Given the description of an element on the screen output the (x, y) to click on. 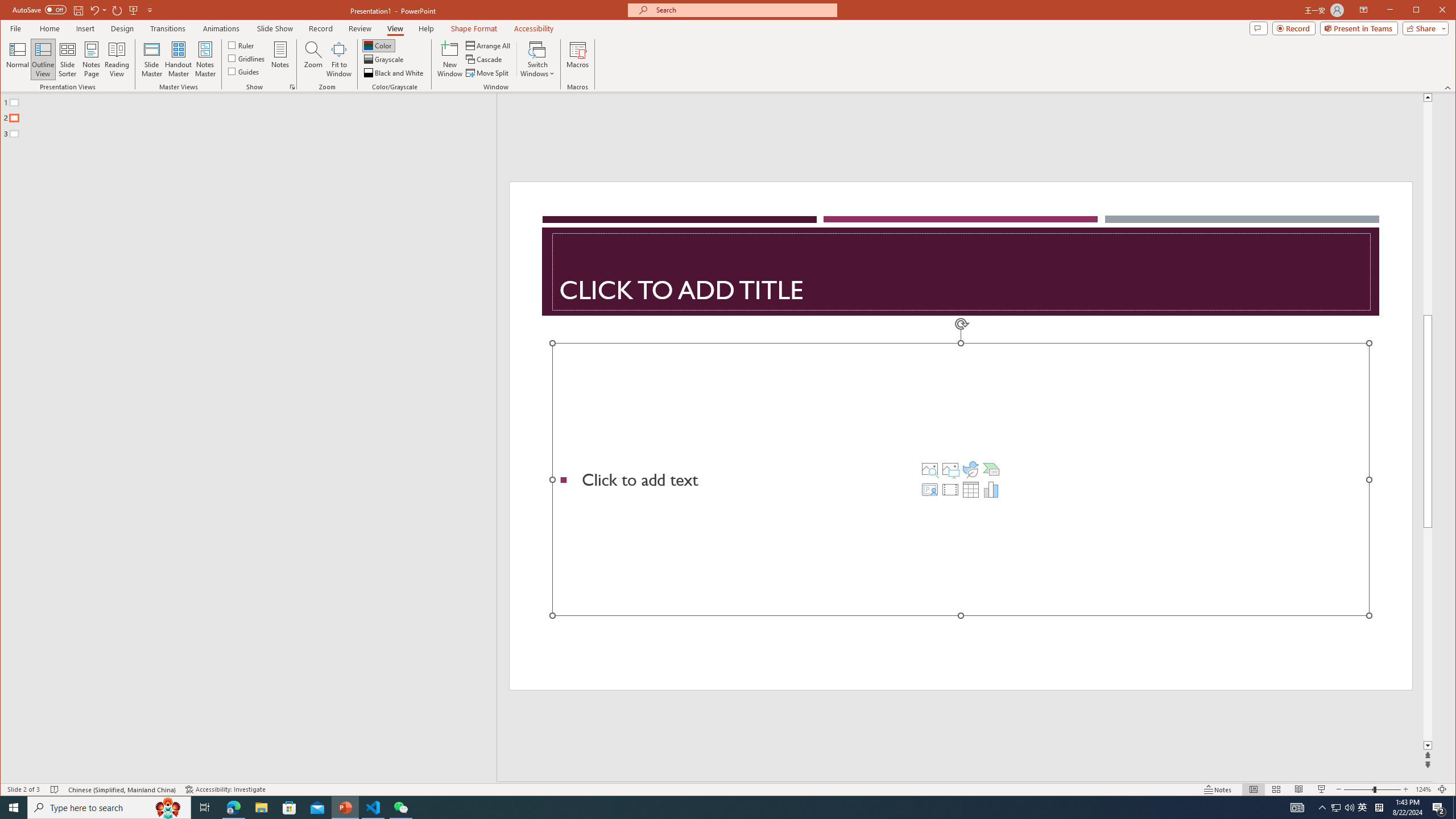
Task View (204, 807)
Action Center, 2 new notifications (1439, 807)
Microsoft search (742, 10)
Insert Video (949, 489)
Tray Input Indicator - Chinese (Simplified, China) (1378, 807)
Insert Cameo (929, 489)
Help (426, 28)
Start (13, 807)
Accessibility (534, 28)
Reading View (1298, 789)
Zoom 124% (1422, 789)
Present in Teams (1358, 28)
Zoom... (312, 59)
Review (360, 28)
Zoom In (1405, 789)
